Given the description of an element on the screen output the (x, y) to click on. 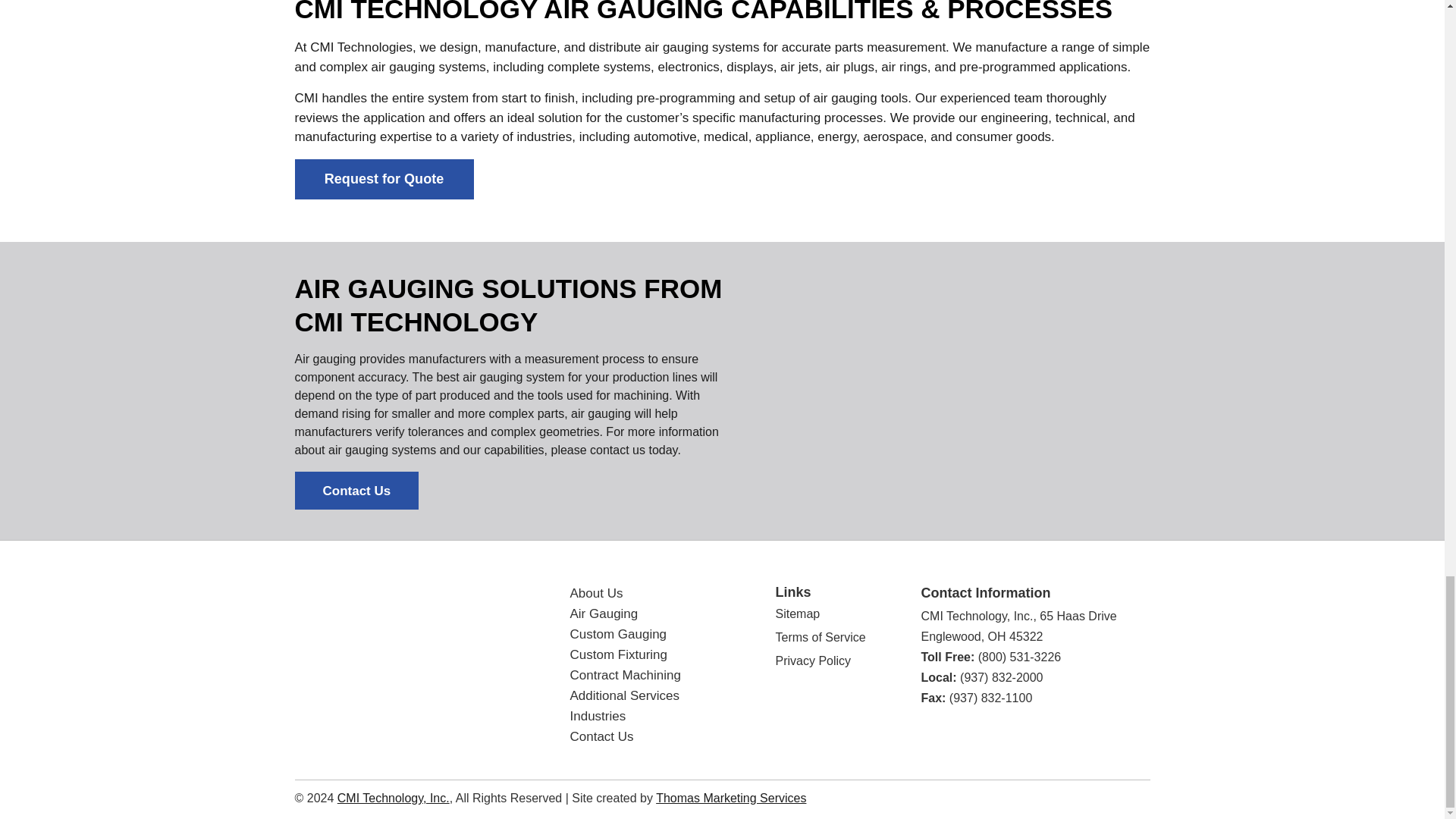
Contract Machining (625, 675)
Additional Services (624, 695)
Air Gauging (604, 613)
CMI Technology, Inc. (397, 661)
About Us (596, 593)
Privacy Policy (812, 660)
Sitemap (796, 613)
Request for Quote (383, 178)
Custom Fixturing (618, 654)
Contact Us (601, 736)
Contact Us (356, 490)
Custom Gauging (618, 634)
Industries (598, 716)
Terms of Service (819, 636)
